Given the description of an element on the screen output the (x, y) to click on. 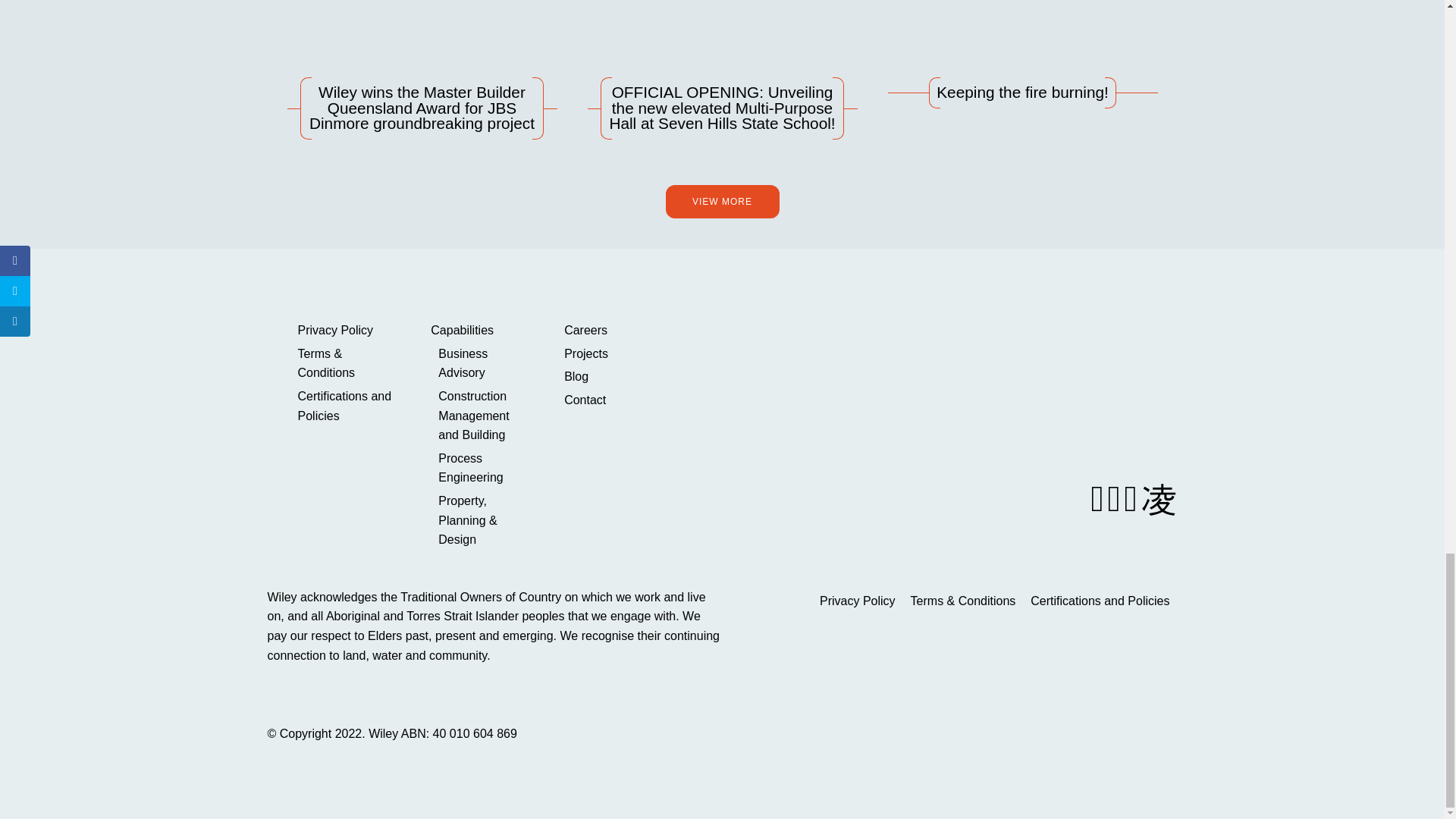
Construction Management and Building (481, 415)
Contact (611, 400)
Careers (611, 330)
Projects (611, 353)
Privacy Policy (345, 330)
Projects (611, 353)
Capabilities (477, 330)
Keeping the fire burning! (1021, 54)
Business Advisory (481, 363)
